Given the description of an element on the screen output the (x, y) to click on. 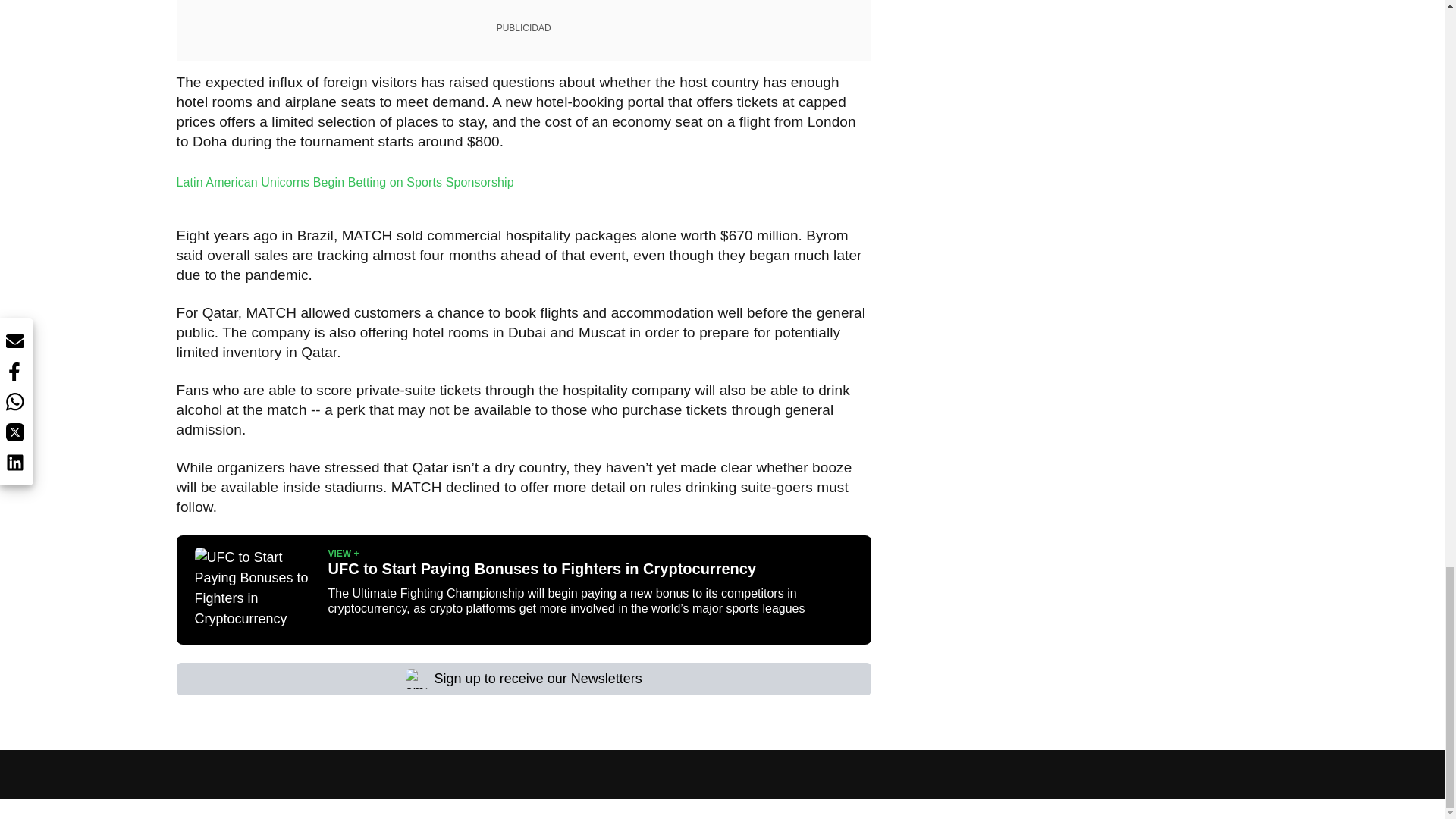
UFC to Start Paying Bonuses to Fighters in Cryptocurrency (254, 589)
email-registration (417, 679)
